Given the description of an element on the screen output the (x, y) to click on. 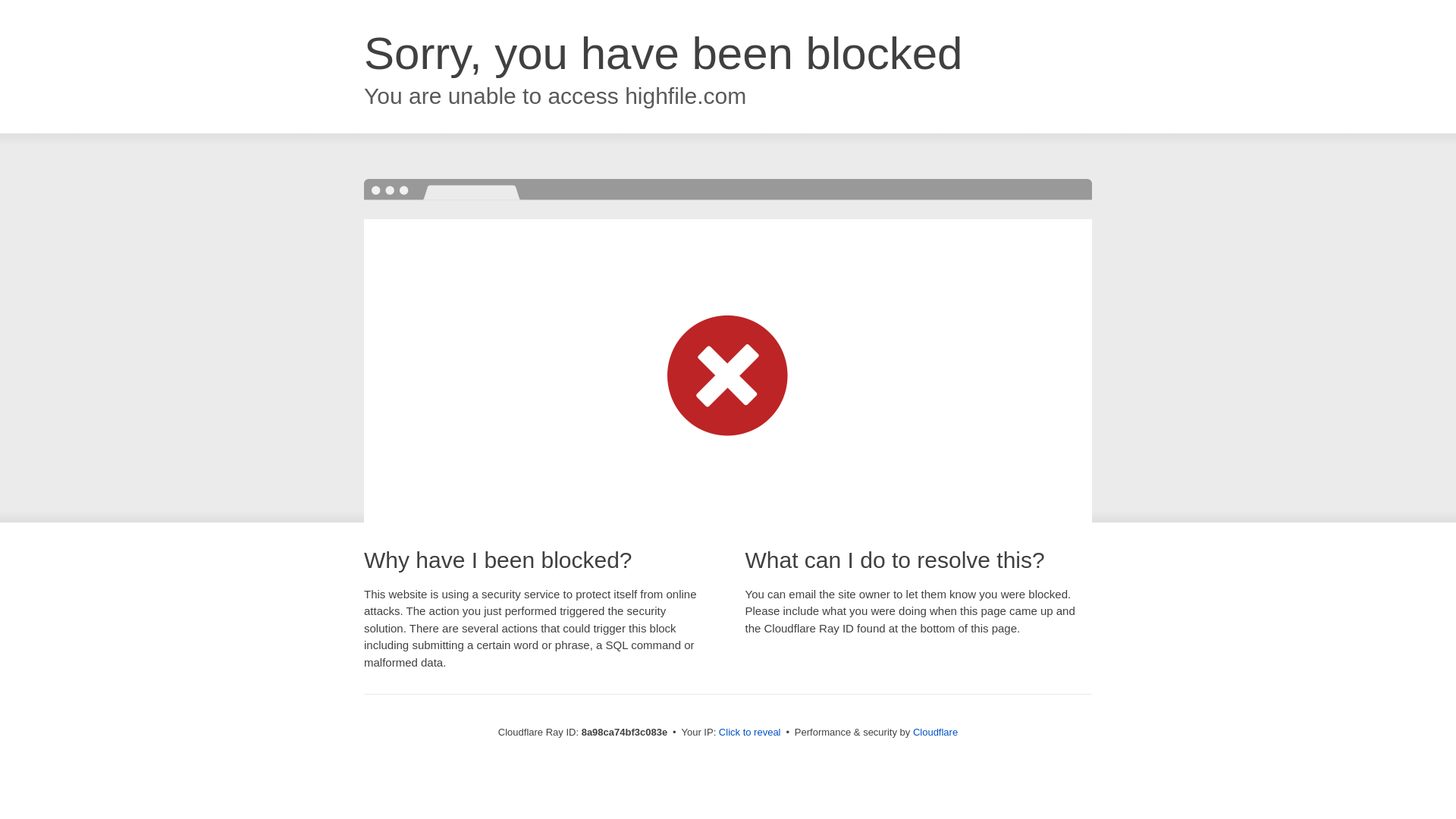
Cloudflare (935, 731)
Click to reveal (749, 732)
